Given the description of an element on the screen output the (x, y) to click on. 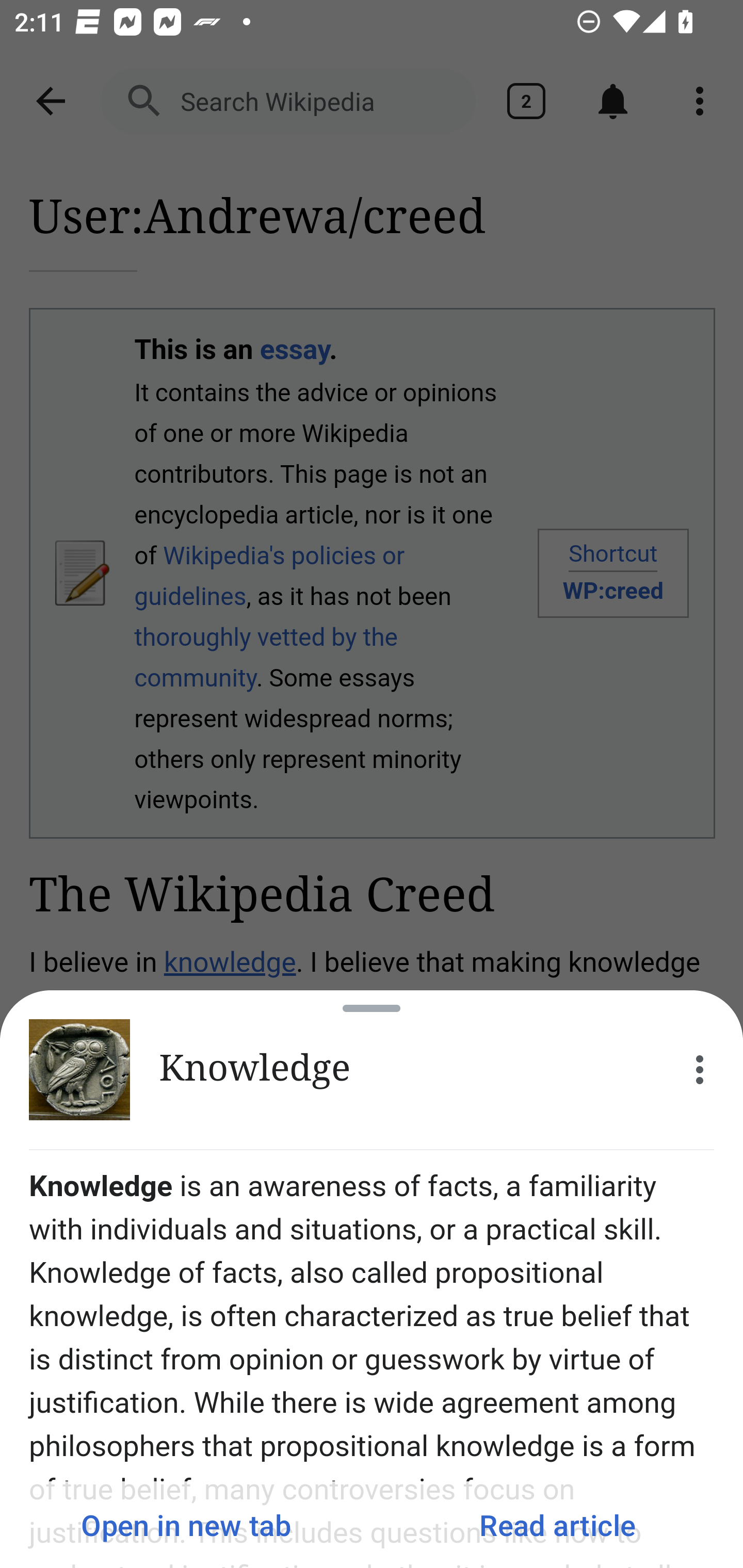
Knowledge More options (371, 1069)
More options (699, 1070)
Open in new tab (185, 1524)
Read article (557, 1524)
